Given the description of an element on the screen output the (x, y) to click on. 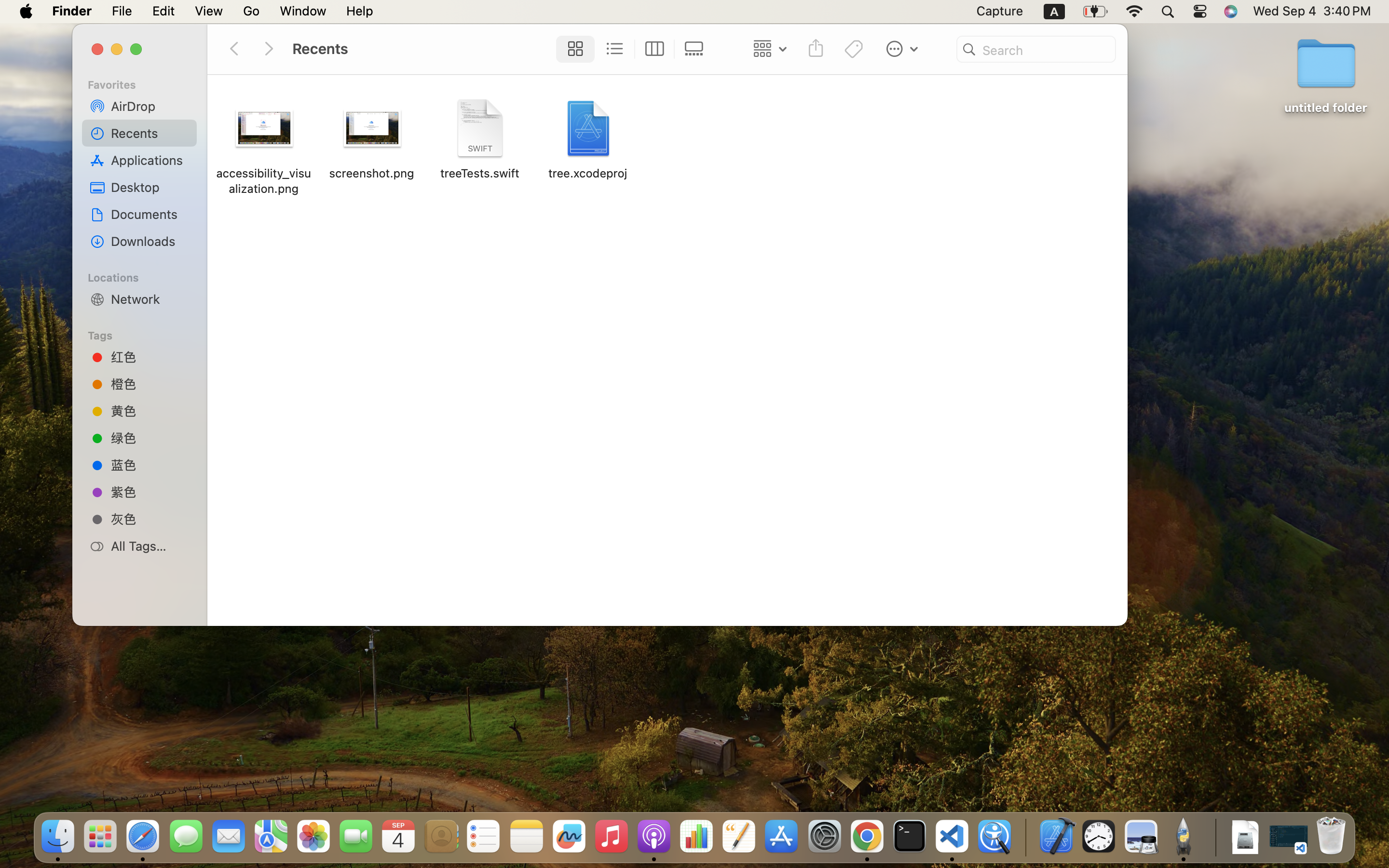
Favorites Element type: AXStaticText (144, 83)
橙色 Element type: AXStaticText (149, 383)
1 Element type: AXRadioButton (572, 48)
AirDrop Element type: AXStaticText (149, 105)
Applications Element type: AXStaticText (149, 159)
